Given the description of an element on the screen output the (x, y) to click on. 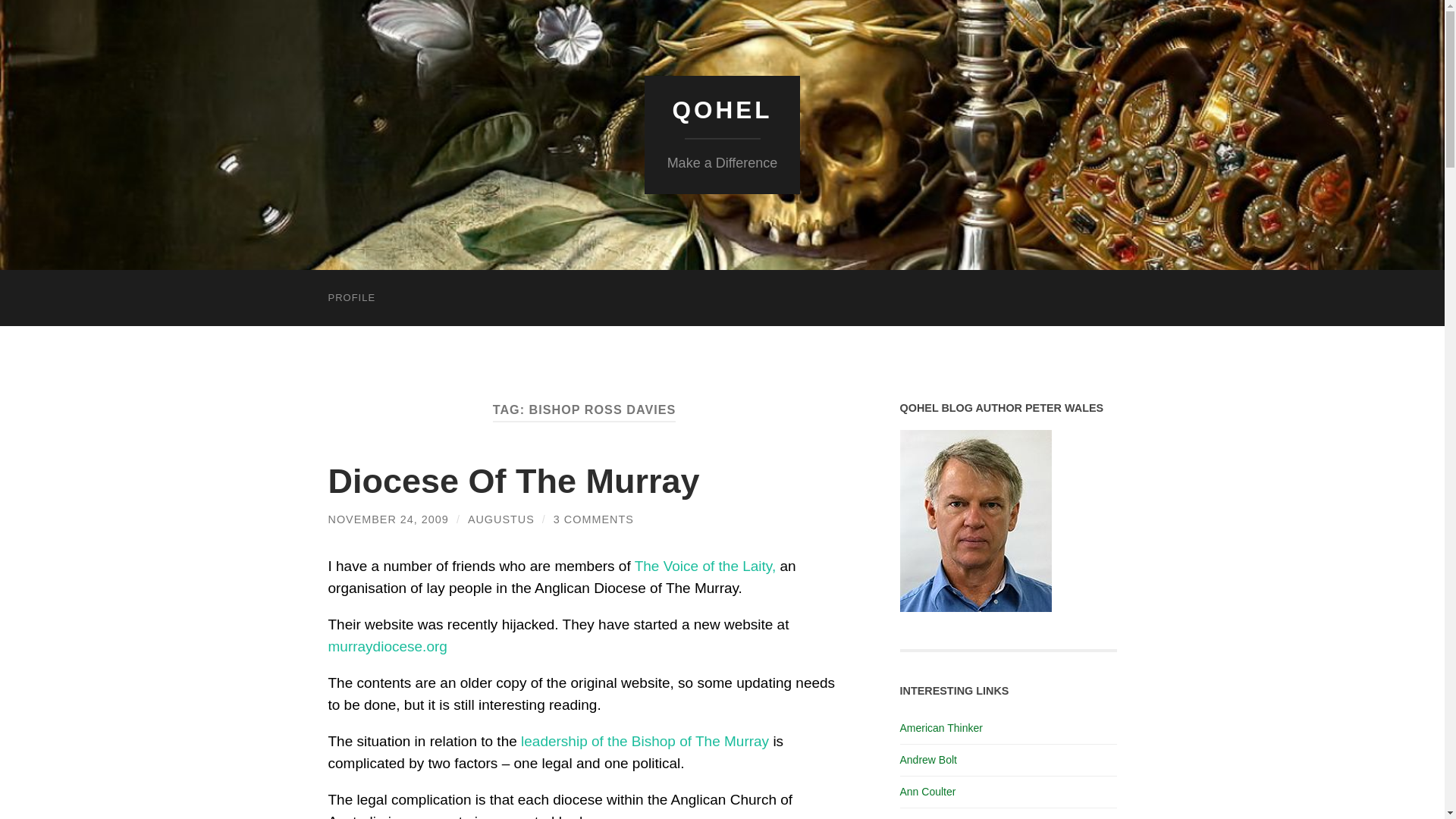
Arts and Letters Daily (950, 818)
Ann Coulter (927, 791)
PROFILE (351, 297)
3 COMMENTS (593, 519)
Diocese Of The Murray (512, 480)
murraydiocese.org (386, 646)
Andrew Bolt (927, 759)
Posts by Augustus (500, 519)
leadership of the Bishop of The Murray (644, 741)
AUGUSTUS (500, 519)
American Thinker (940, 727)
QOHEL (721, 109)
NOVEMBER 24, 2009 (387, 519)
The Voice of the Laity, (705, 565)
